Given the description of an element on the screen output the (x, y) to click on. 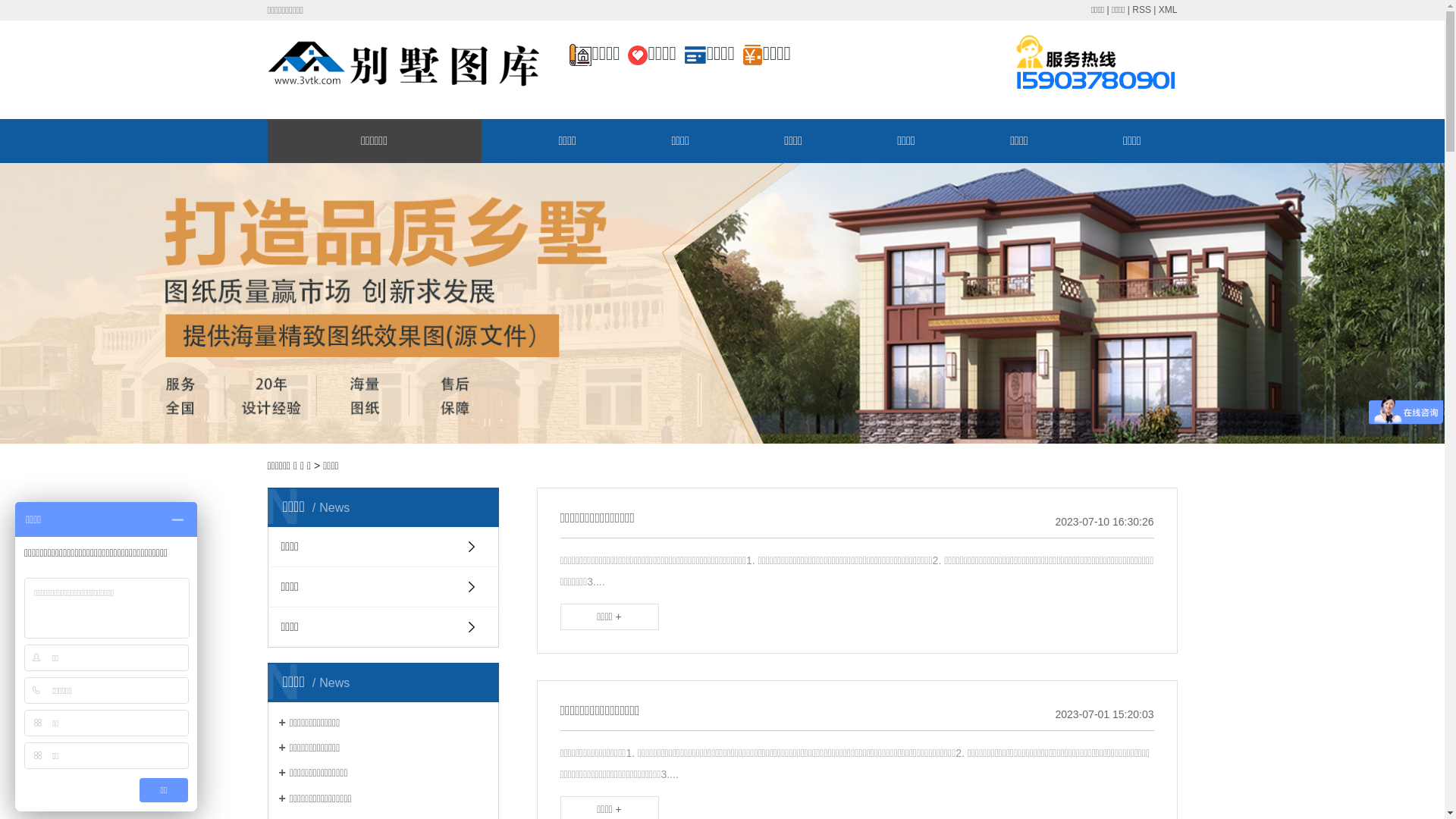
XML Element type: text (1167, 9)
RSS Element type: text (1141, 9)
1623395280125398.jpg Element type: hover (1095, 64)
